Given the description of an element on the screen output the (x, y) to click on. 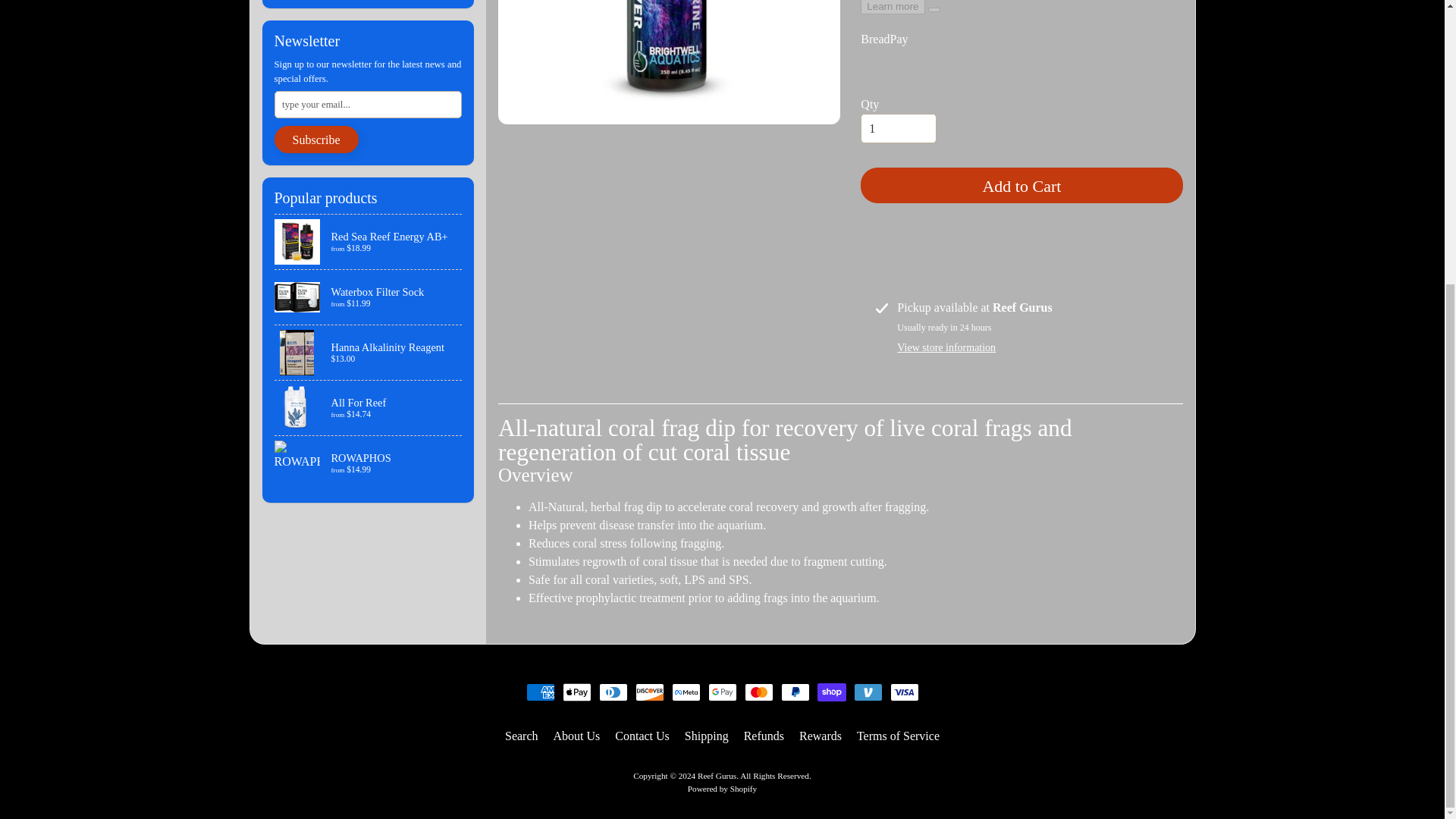
Meta Pay (685, 692)
1 (898, 128)
Venmo (867, 692)
Hanna Alkalinity Reagent (369, 352)
PayPal (794, 692)
All For Reef (369, 407)
Mastercard (758, 692)
Visa (903, 692)
Apple Pay (576, 692)
American Express (539, 692)
Shop Pay (830, 692)
Google Pay (721, 692)
ROWAPHOS (369, 462)
Diners Club (612, 692)
Discover (648, 692)
